Given the description of an element on the screen output the (x, y) to click on. 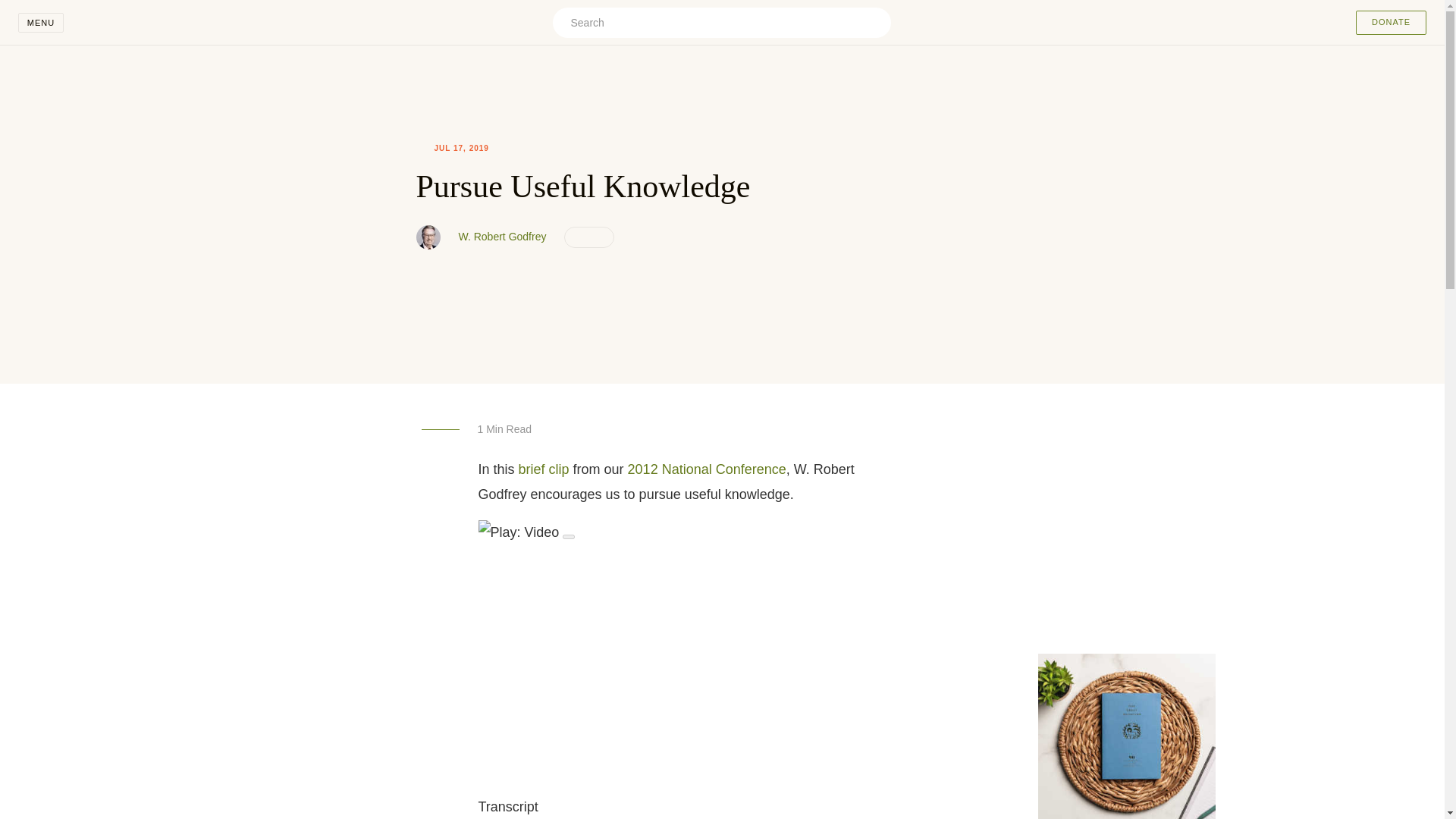
DONATE (1390, 22)
Play: Video (721, 532)
MENU (40, 22)
